Given the description of an element on the screen output the (x, y) to click on. 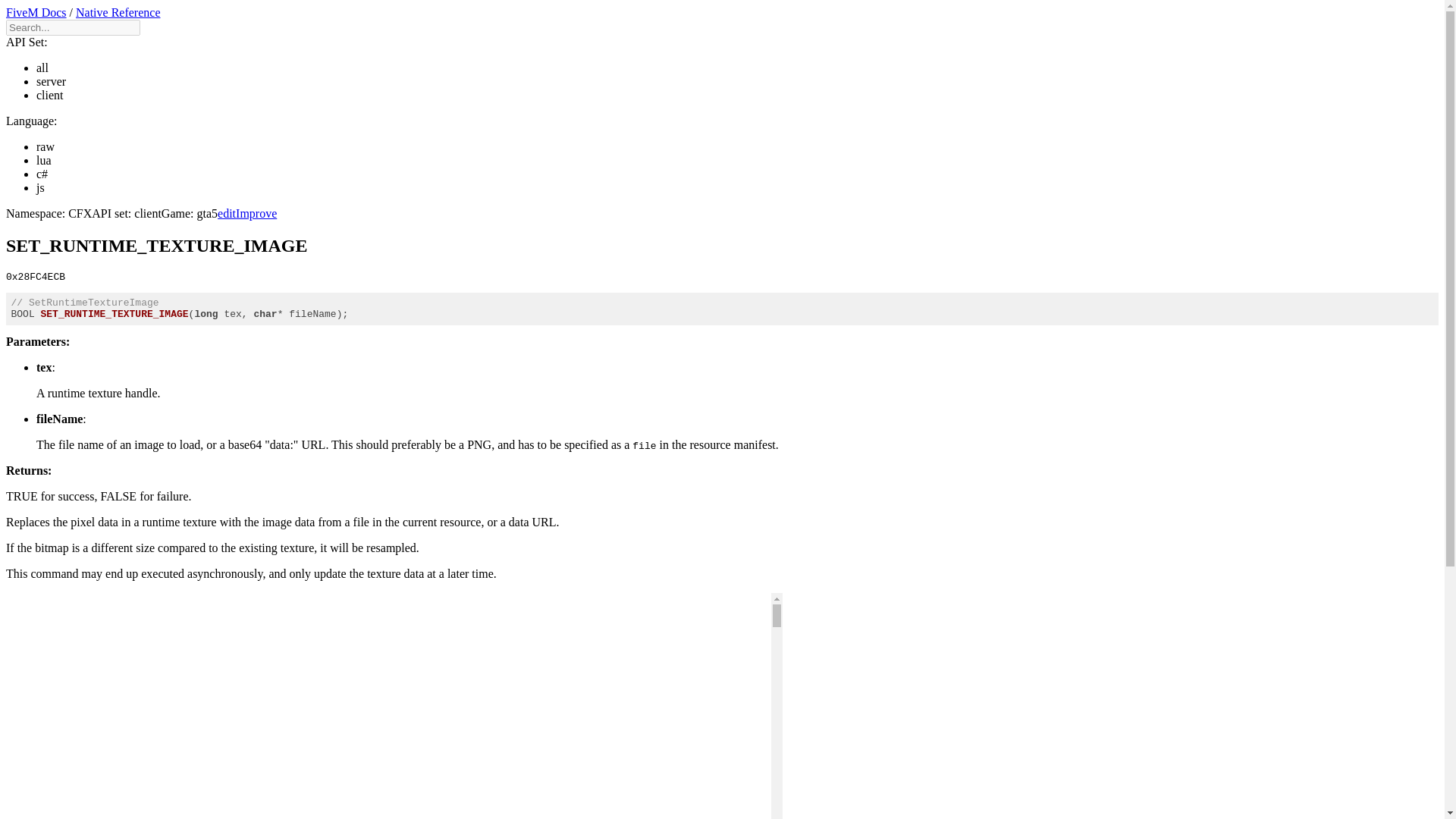
Native Reference (117, 11)
FiveM Docs (35, 11)
editImprove (246, 213)
